Given the description of an element on the screen output the (x, y) to click on. 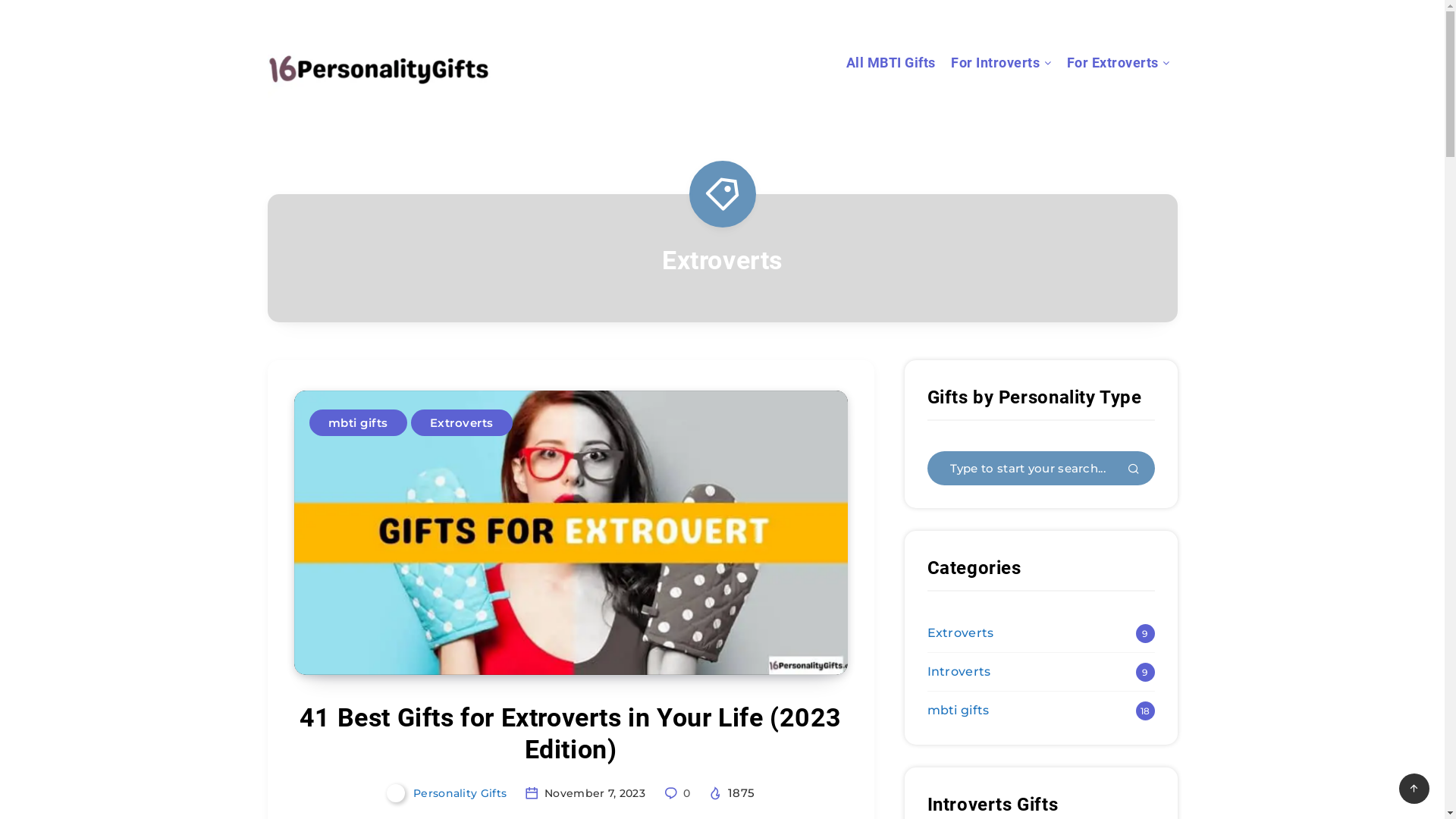
For Introverts Element type: text (994, 64)
mbti gifts Element type: text (358, 422)
mbti gifts Element type: text (957, 710)
0 Element type: text (678, 793)
For Extroverts Element type: text (1111, 64)
Extroverts Element type: text (959, 632)
Extroverts Element type: text (461, 422)
Personality Gifts Element type: text (448, 793)
Introverts Element type: text (958, 671)
41 Best Gifts for Extroverts in Your Life (2023 Edition) Element type: text (570, 735)
All MBTI Gifts Element type: text (890, 64)
